Given the description of an element on the screen output the (x, y) to click on. 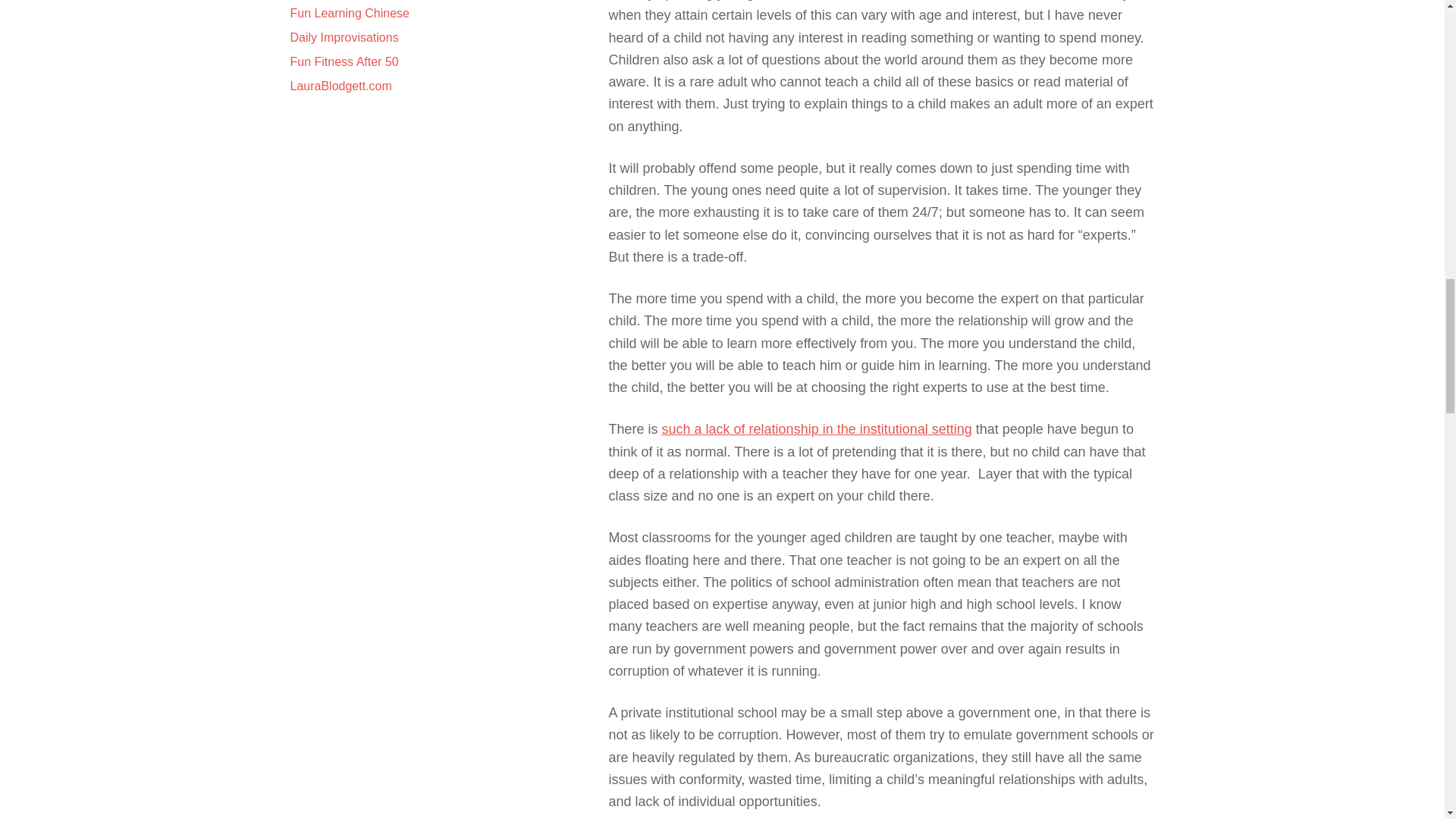
LauraBlodgett.com (340, 85)
Daily Improvisations (343, 37)
such a lack of relationship in the institutional setting (817, 428)
A Case Against Institutional aka Public School Socialization (817, 428)
Fun Learning Chinese (349, 12)
Fun Fitness After 50 (343, 61)
